Given the description of an element on the screen output the (x, y) to click on. 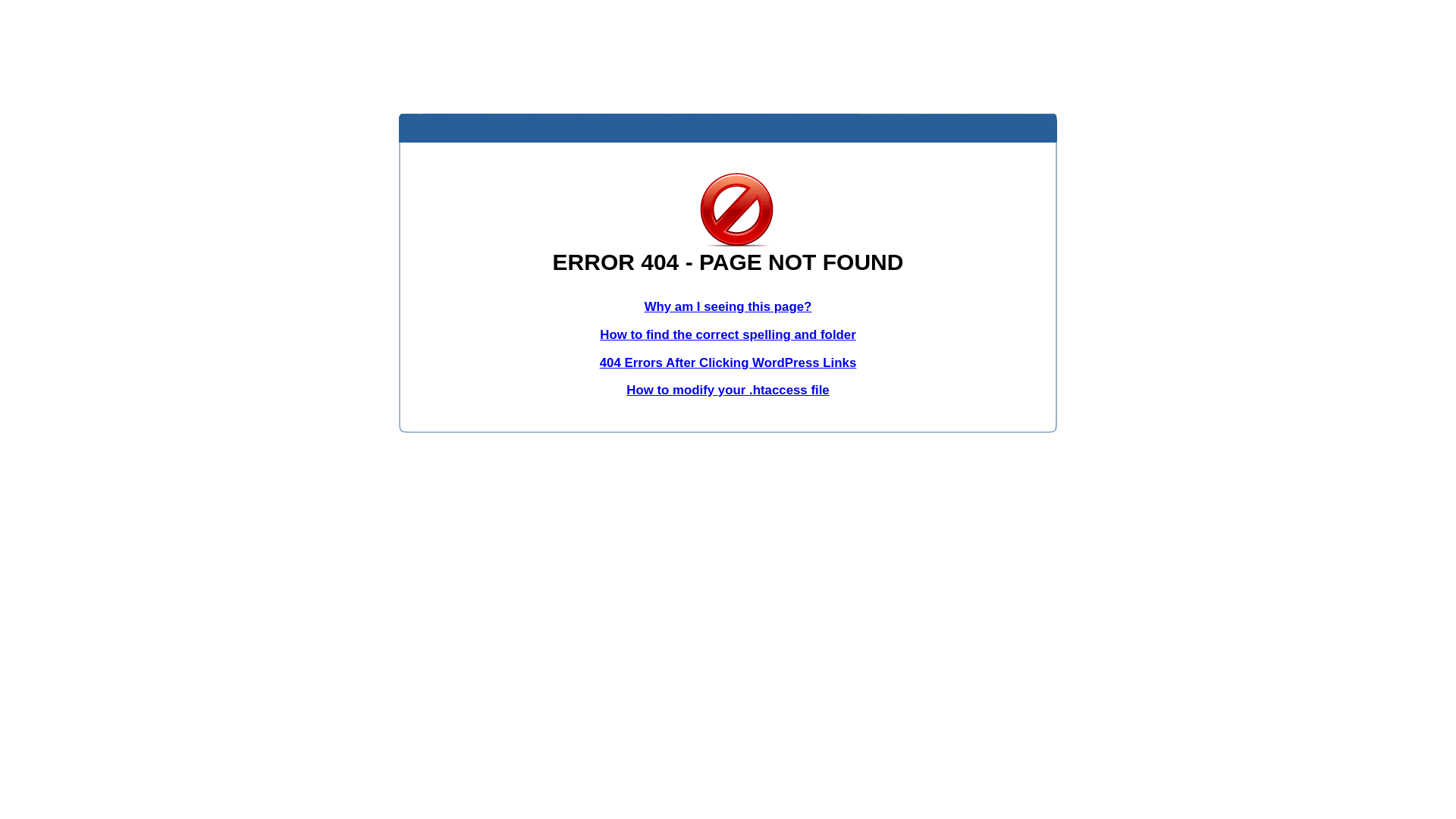
How to find the correct spelling and folder Element type: text (727, 334)
How to modify your .htaccess file Element type: text (727, 389)
404 Errors After Clicking WordPress Links Element type: text (727, 362)
Why am I seeing this page? Element type: text (728, 306)
